Given the description of an element on the screen output the (x, y) to click on. 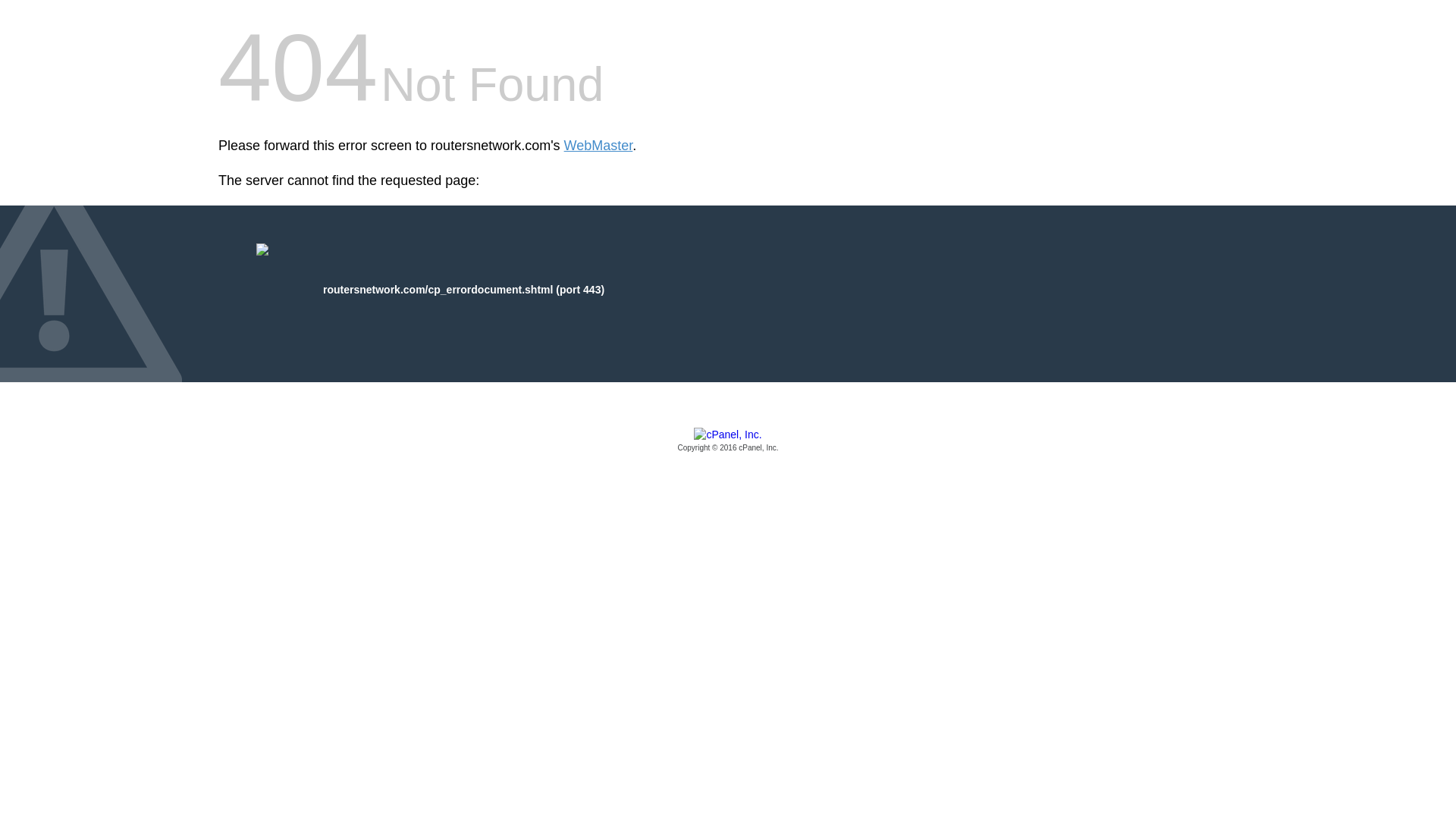
cPanel, Inc. (727, 440)
WebMaster (598, 145)
